Given the description of an element on the screen output the (x, y) to click on. 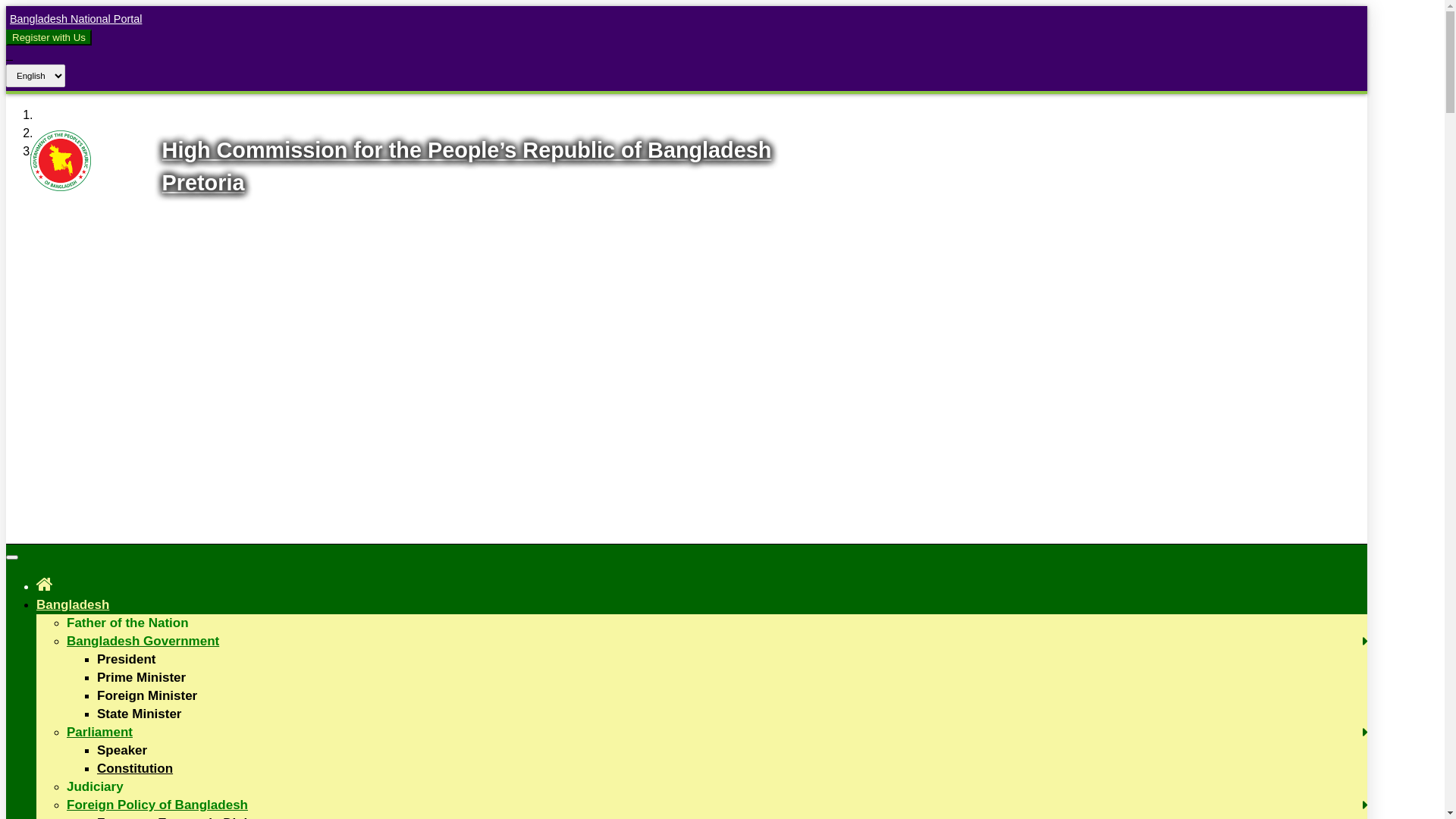
Speaker Element type: text (122, 750)
State Minister Element type: text (139, 713)
Bangladesh National Portal Element type: text (73, 18)
Logo Element type: hover (60, 186)
Judiciary Element type: text (94, 786)
Register with Us Element type: text (48, 37)
Bangladesh Government Element type: text (142, 640)
Prime Minister Element type: text (141, 677)
Father of the Nation Element type: text (127, 622)
Constitution Element type: text (134, 768)
Foreign Minister Element type: text (147, 695)
Foreign Policy of Bangladesh Element type: text (156, 804)
Bangladesh Element type: text (72, 604)
Parliament Element type: text (99, 731)
Home Element type: hover (44, 584)
Register with Us Element type: text (48, 37)
President Element type: text (126, 659)
